Given the description of an element on the screen output the (x, y) to click on. 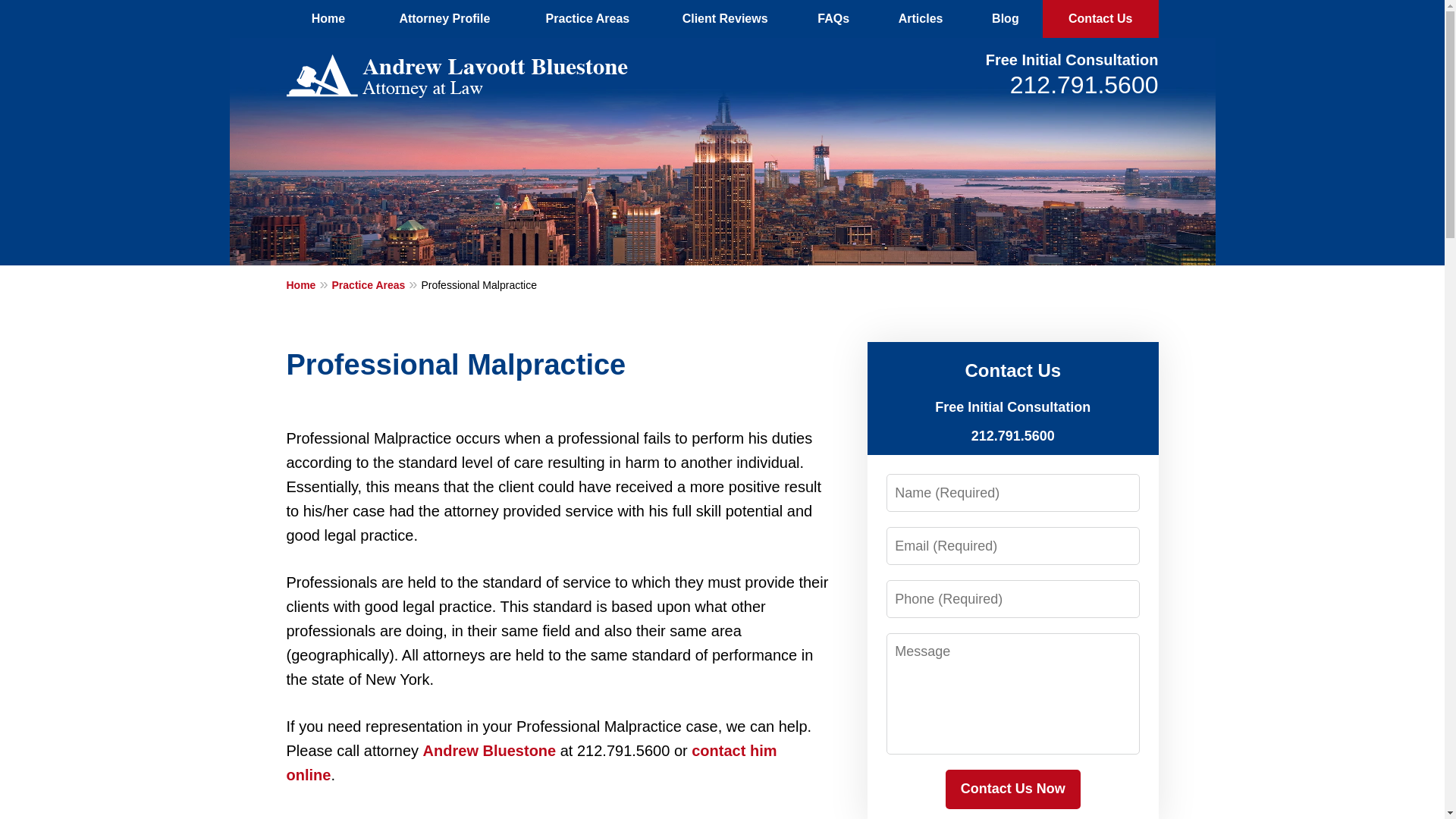
Contact Us Now (1012, 789)
Client Reviews (724, 18)
Blog (1005, 18)
212.791.5600 (1084, 84)
Home (308, 284)
Contact Us (1099, 18)
Practice Areas (587, 18)
Practice Areas (376, 284)
Free Initial Consultation (1071, 59)
FAQs (832, 18)
